Given the description of an element on the screen output the (x, y) to click on. 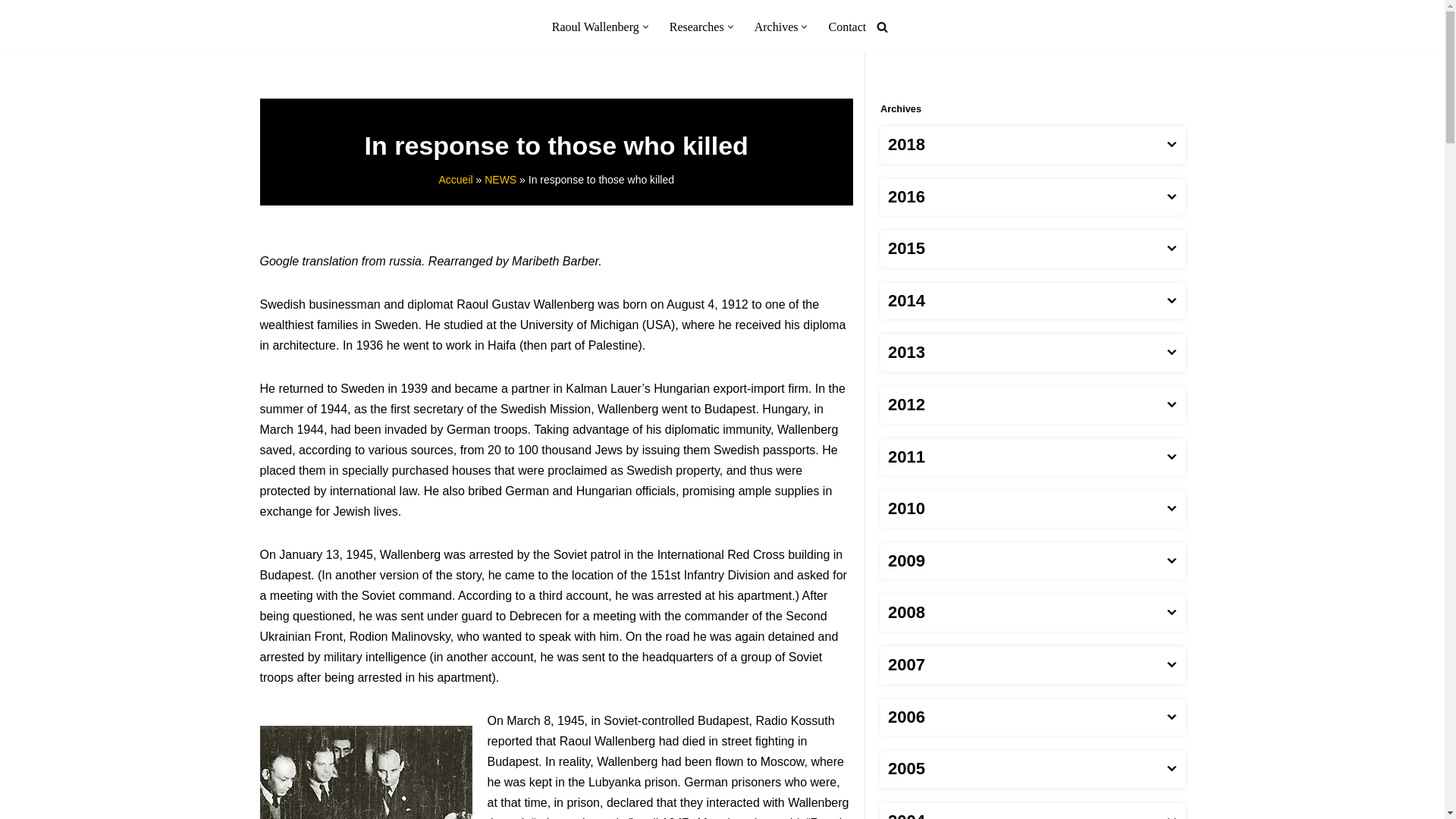
Raoul Wallenberg at his office (365, 772)
Archives (775, 26)
Skip to content (11, 31)
Contact (847, 26)
Raoul Wallenberg (595, 26)
Researches (696, 26)
